Given the description of an element on the screen output the (x, y) to click on. 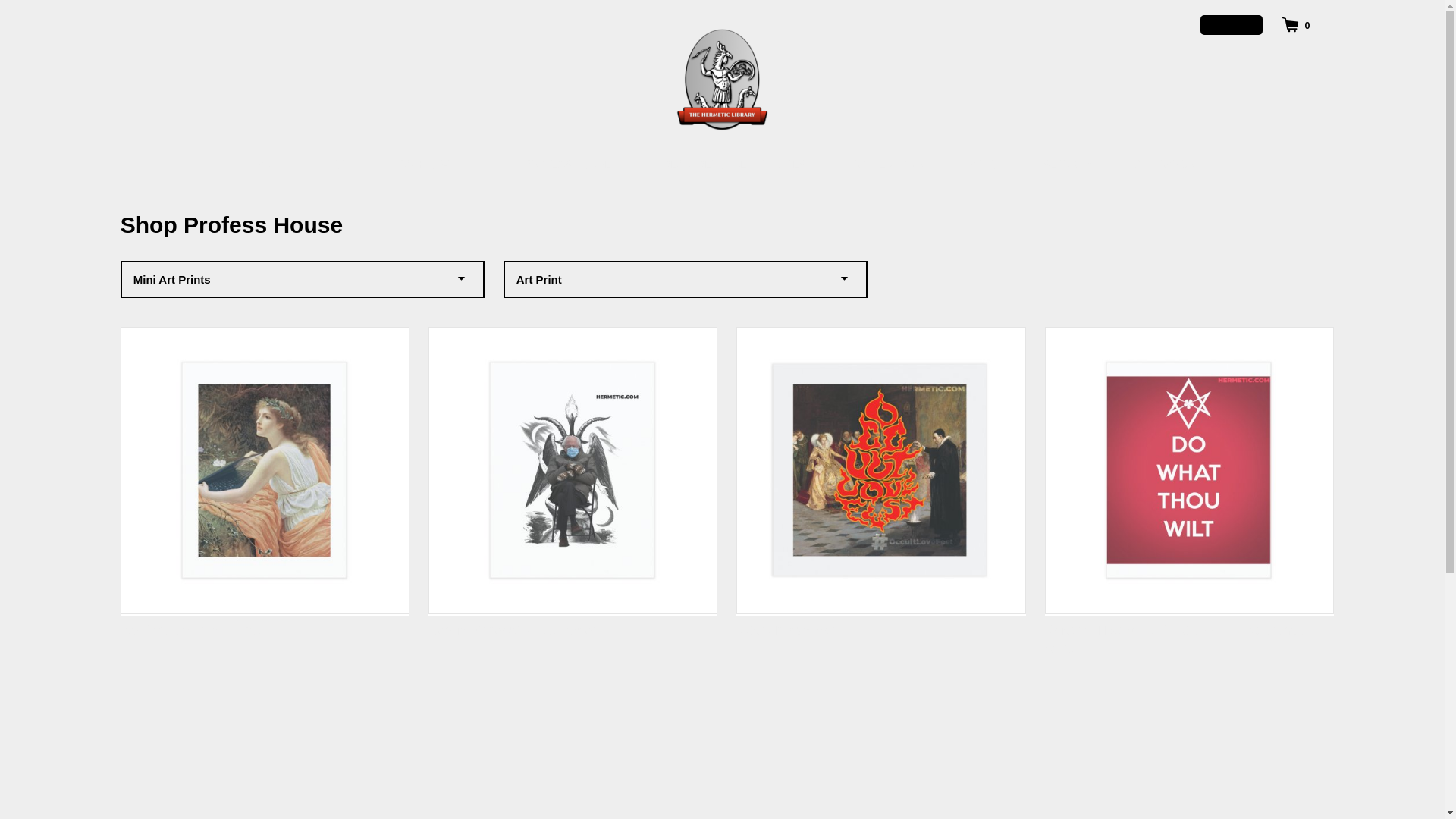
Shop Nuit (342, 164)
Pandora and the Laptop (264, 481)
Shop Treasurehouse of Images (735, 164)
COLLECTIONS (891, 164)
0 (1295, 24)
GIFT CARDS (1163, 164)
RA-HOOR-KHUIT (442, 164)
Search Hermetic Library's Artist Shop (1068, 164)
SEARCH (1068, 164)
Shop Hadit (269, 164)
Give the gift of unlimited choice (1163, 164)
Shop Profess House (571, 164)
About Hermetic Library's Artist Shop (986, 164)
Shop Ra-Hoor-Khuit (442, 164)
TREASUREHOUSE OF IMAGES (735, 164)
